Given the description of an element on the screen output the (x, y) to click on. 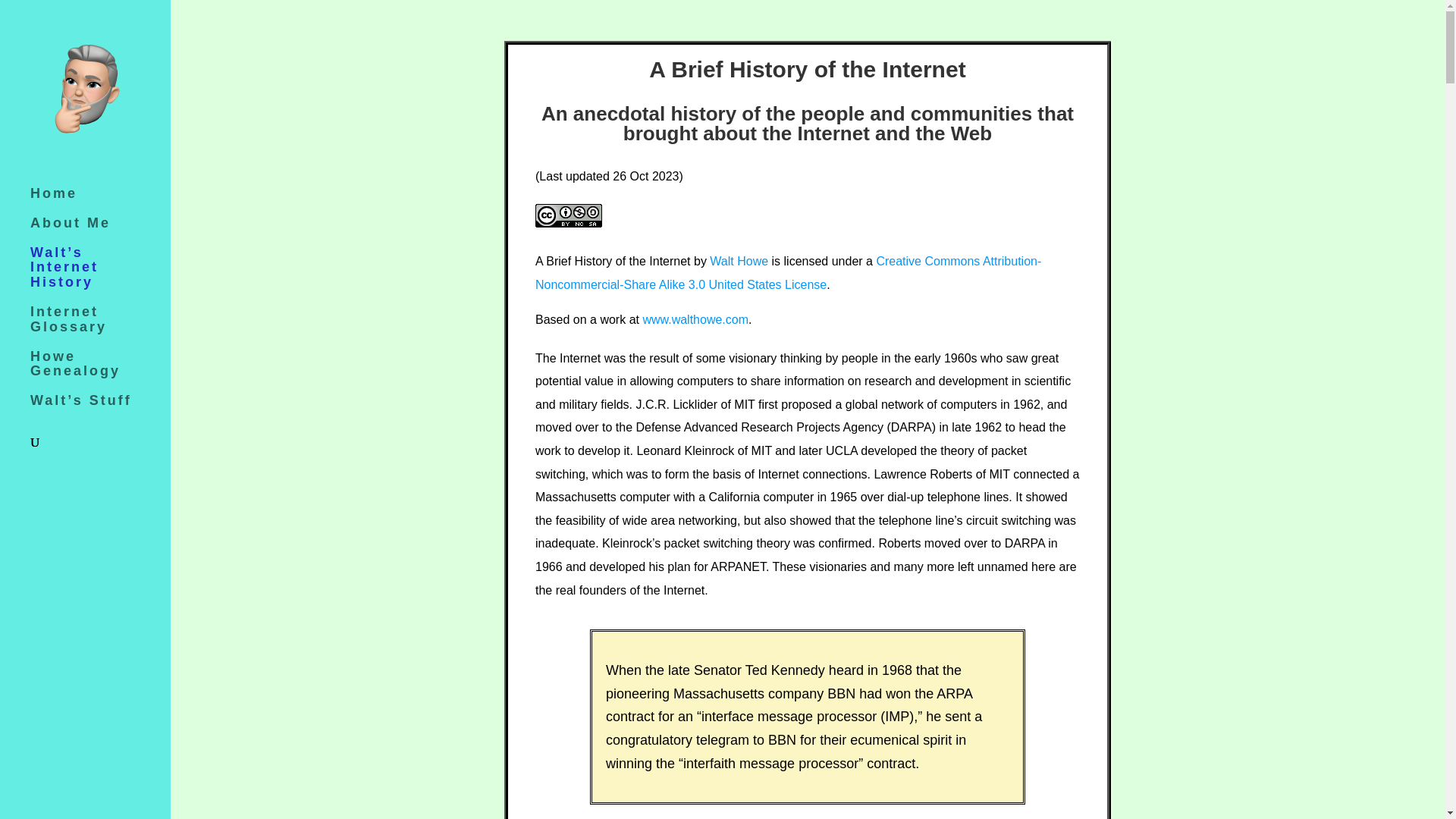
Home (100, 201)
Howe Genealogy (100, 371)
www.walthowe.com (695, 318)
Internet Glossary (100, 326)
Walt Howe (739, 260)
About Me (100, 230)
